Given the description of an element on the screen output the (x, y) to click on. 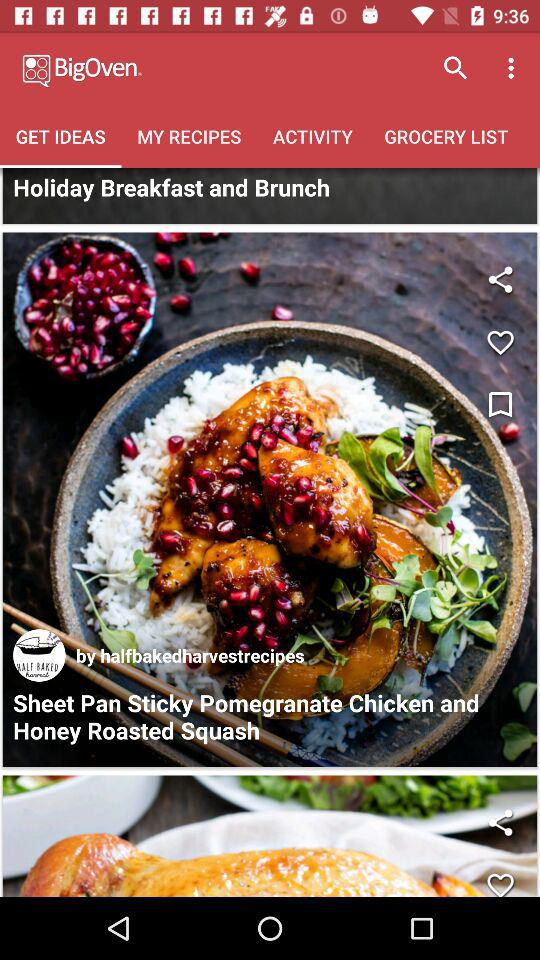
view author 's profile (39, 655)
